Given the description of an element on the screen output the (x, y) to click on. 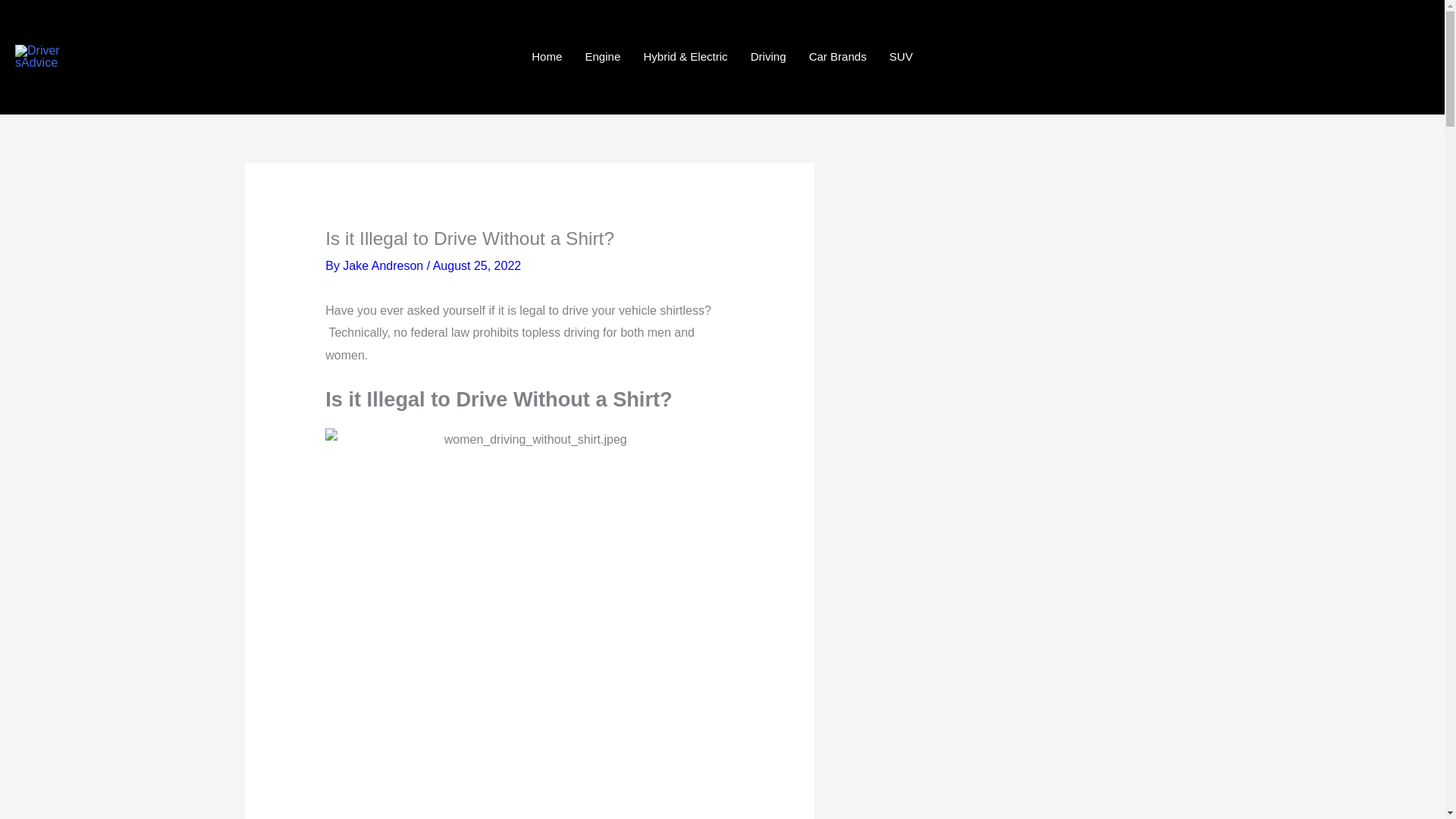
View all posts by Jake Andreson (382, 265)
Jake Andreson (382, 265)
